Given the description of an element on the screen output the (x, y) to click on. 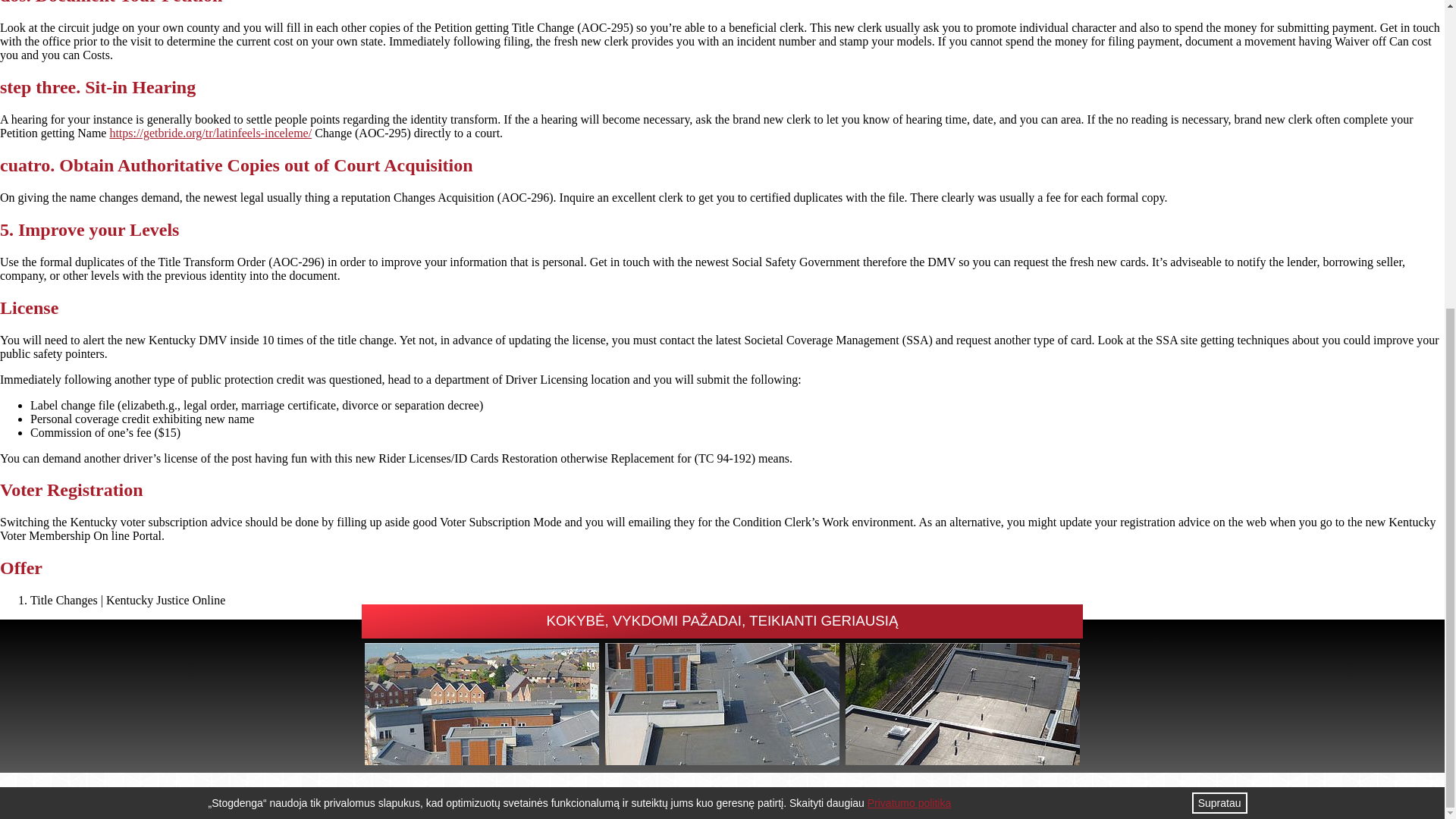
AD DIEM. (771, 795)
Privatumo politika (909, 314)
Privatumo politika (833, 795)
Supratau (1219, 314)
